Given the description of an element on the screen output the (x, y) to click on. 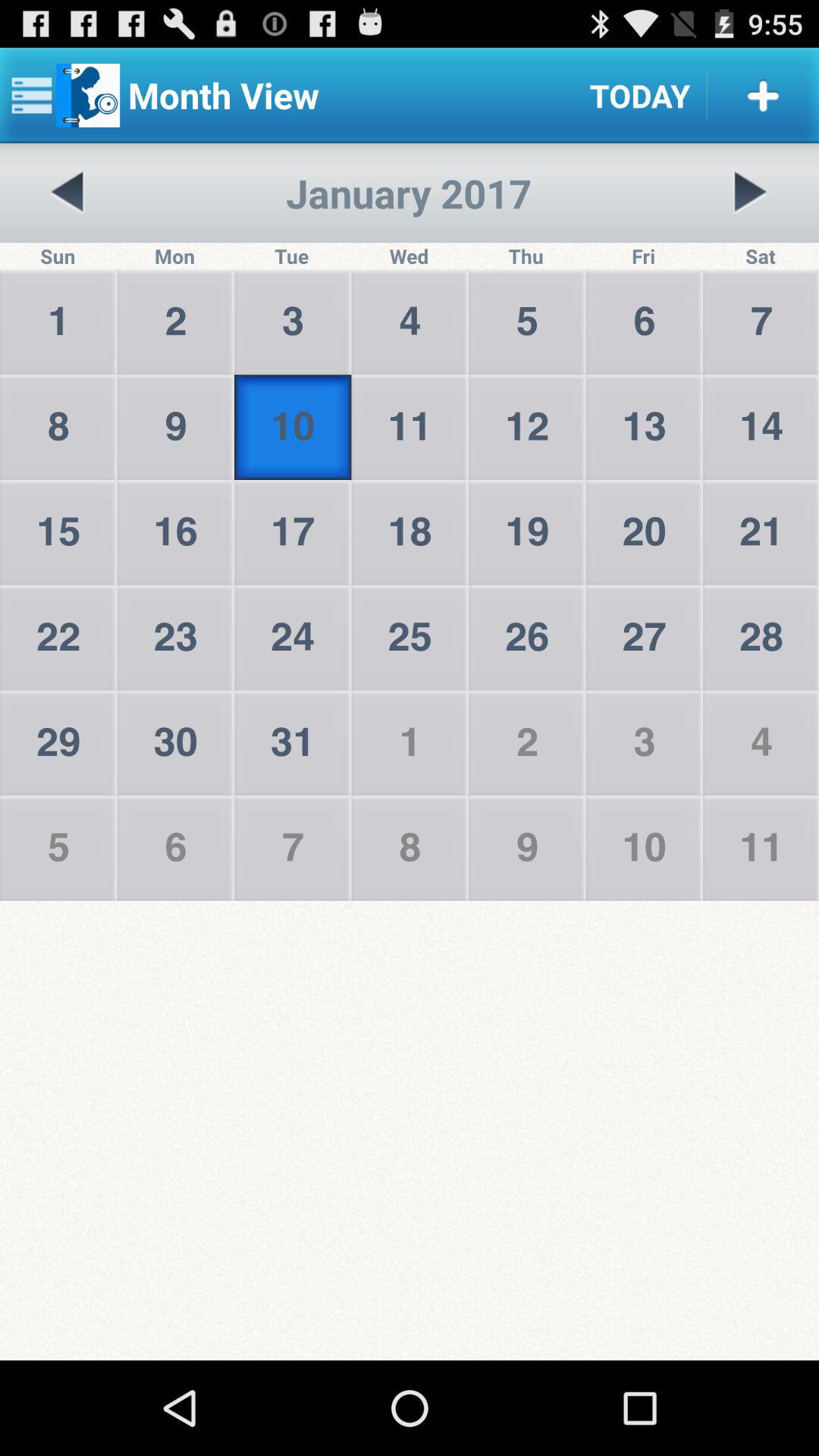
turn on icon above the fri icon (750, 192)
